Given the description of an element on the screen output the (x, y) to click on. 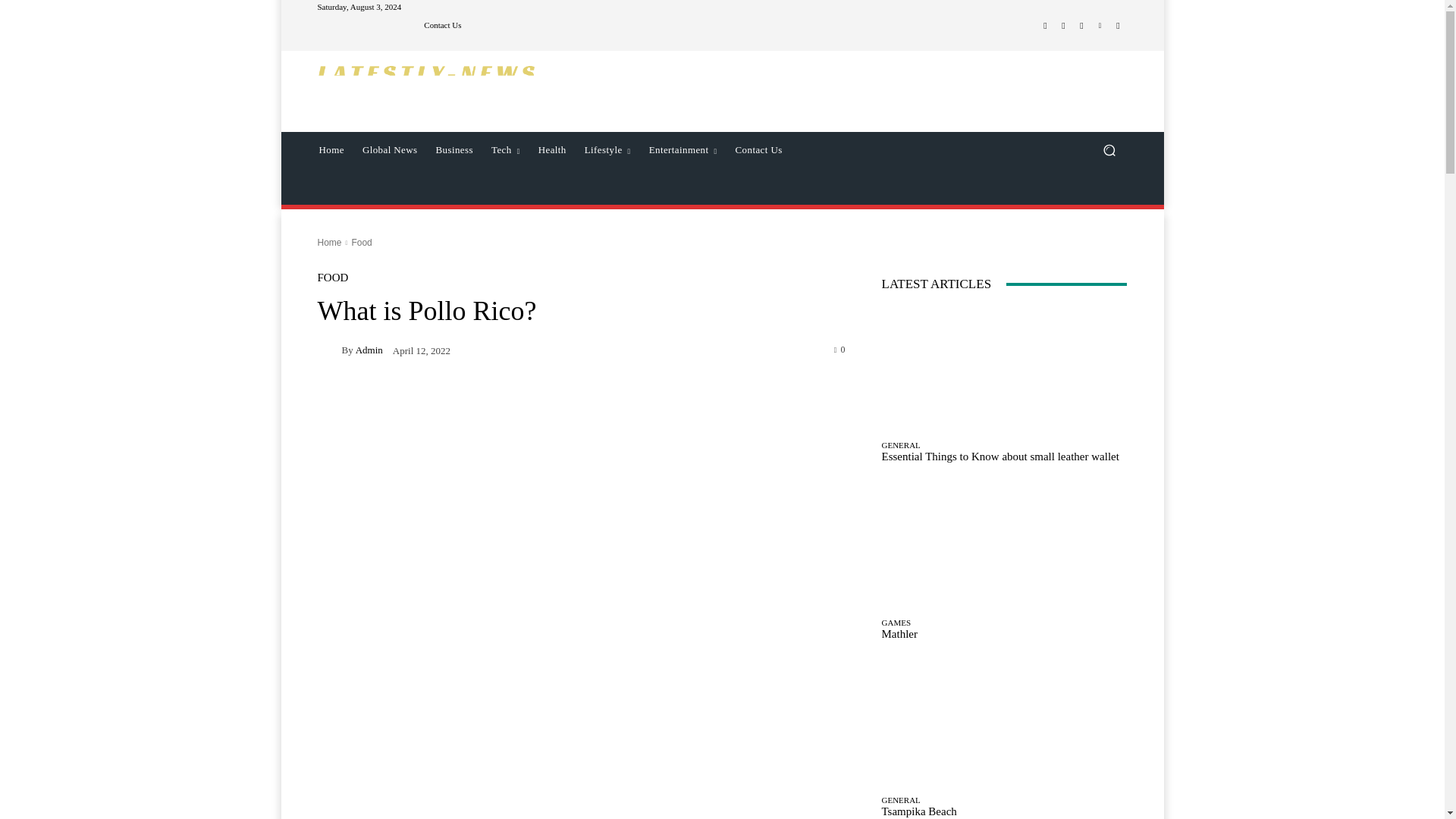
Contact Us (759, 149)
Home (330, 149)
Health (552, 149)
Instagram (1062, 25)
Youtube (1117, 25)
Lifestyle (607, 149)
Contact Us (442, 25)
Entertainment (683, 149)
Twitter (1080, 25)
Tech (505, 149)
View all posts in Food (360, 242)
Business (453, 149)
Facebook (1044, 25)
Admin (328, 349)
Vimeo (1099, 25)
